Given the description of an element on the screen output the (x, y) to click on. 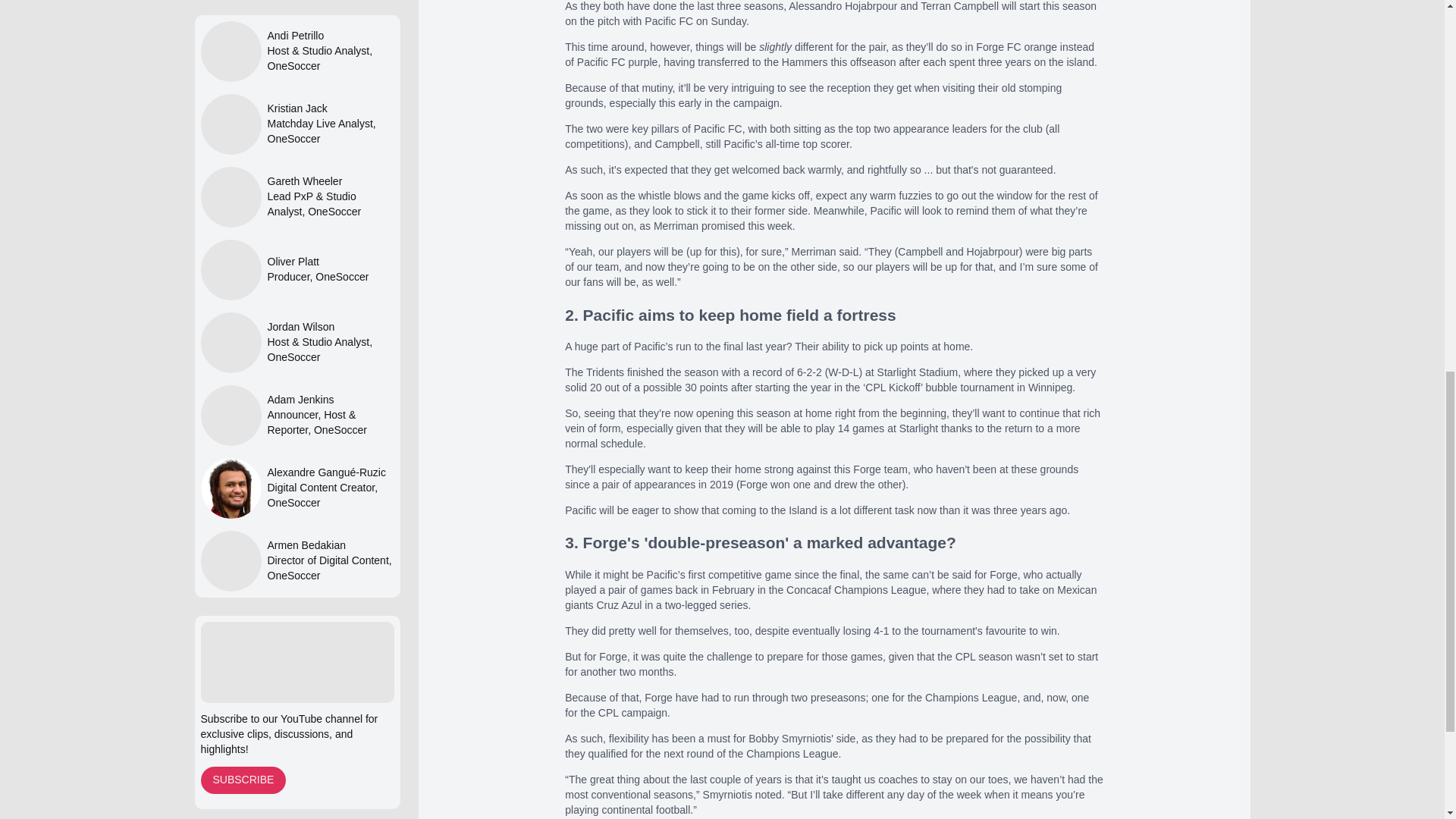
Gareth Wheeler (329, 181)
Jordan Wilson (329, 327)
Oliver Platt (317, 262)
Adam Jenkins (329, 400)
Andi Petrillo (329, 36)
Armen Bedakian (329, 545)
Kristian Jack (329, 109)
SUBSCRIBE (242, 779)
